Given the description of an element on the screen output the (x, y) to click on. 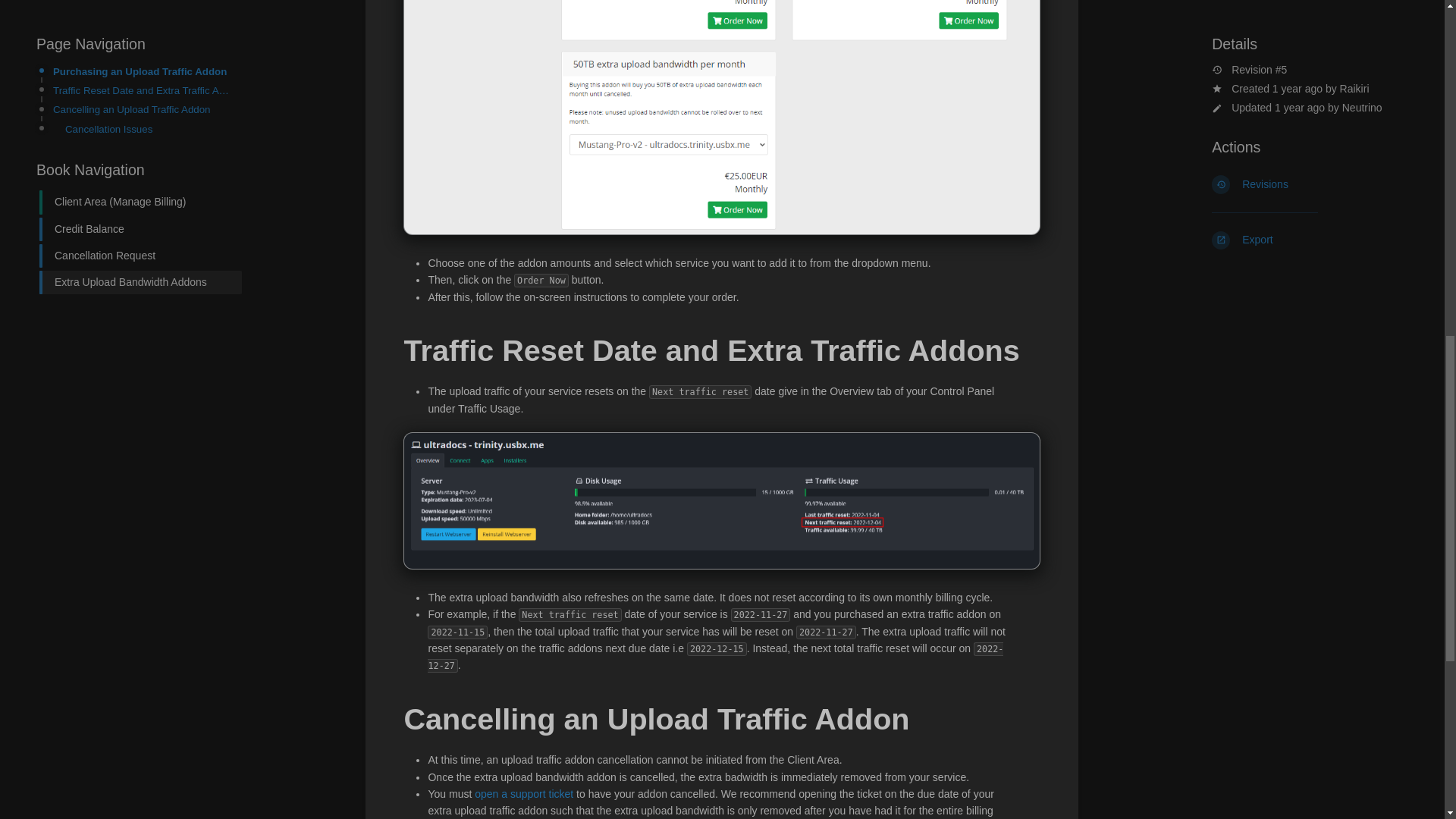
open a support ticket (523, 793)
